Given the description of an element on the screen output the (x, y) to click on. 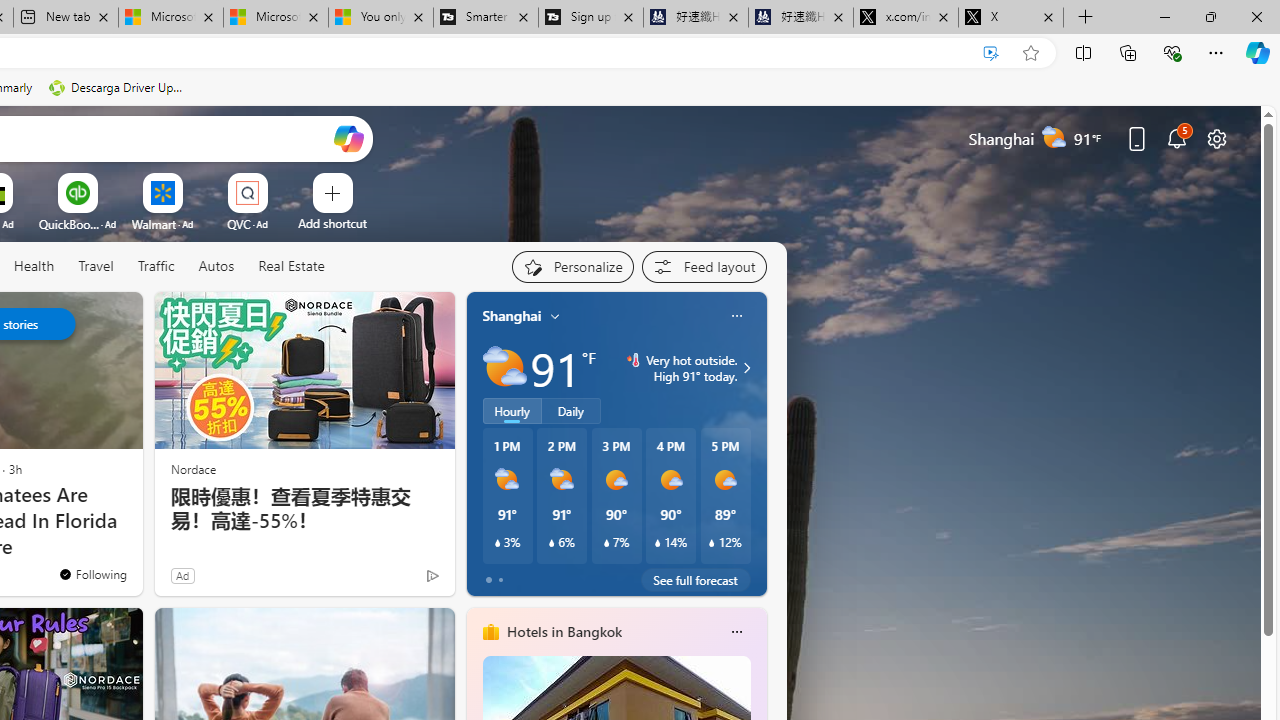
Partly sunny (504, 368)
Smarter Living | T3 (485, 17)
Class: weather-arrow-glyph (746, 367)
Hide this story (82, 315)
tab-1 (500, 579)
My location (555, 315)
Travel (95, 267)
Hotels in Bangkok (563, 631)
